Given the description of an element on the screen output the (x, y) to click on. 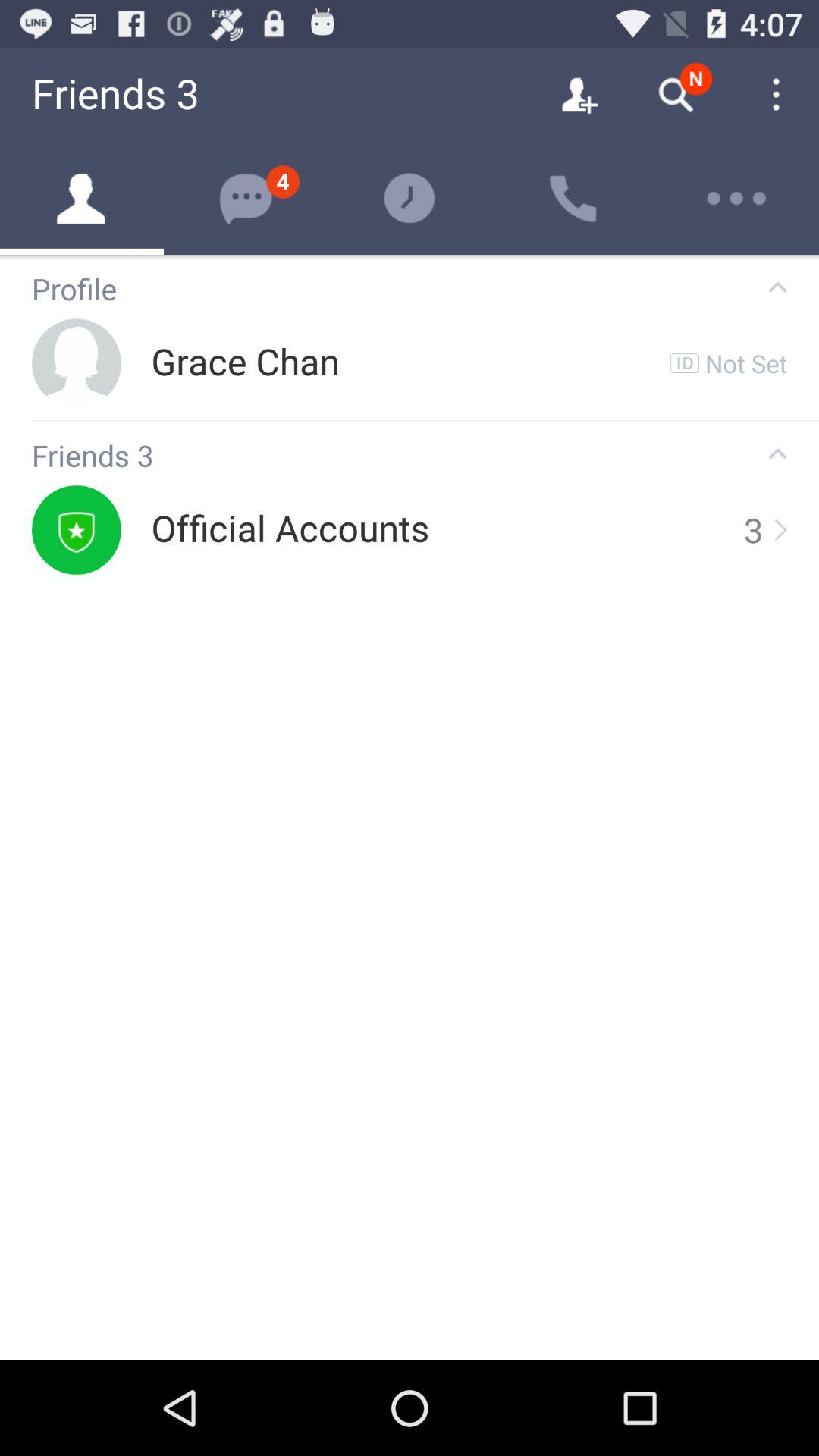
open item below profile item (746, 362)
